Given the description of an element on the screen output the (x, y) to click on. 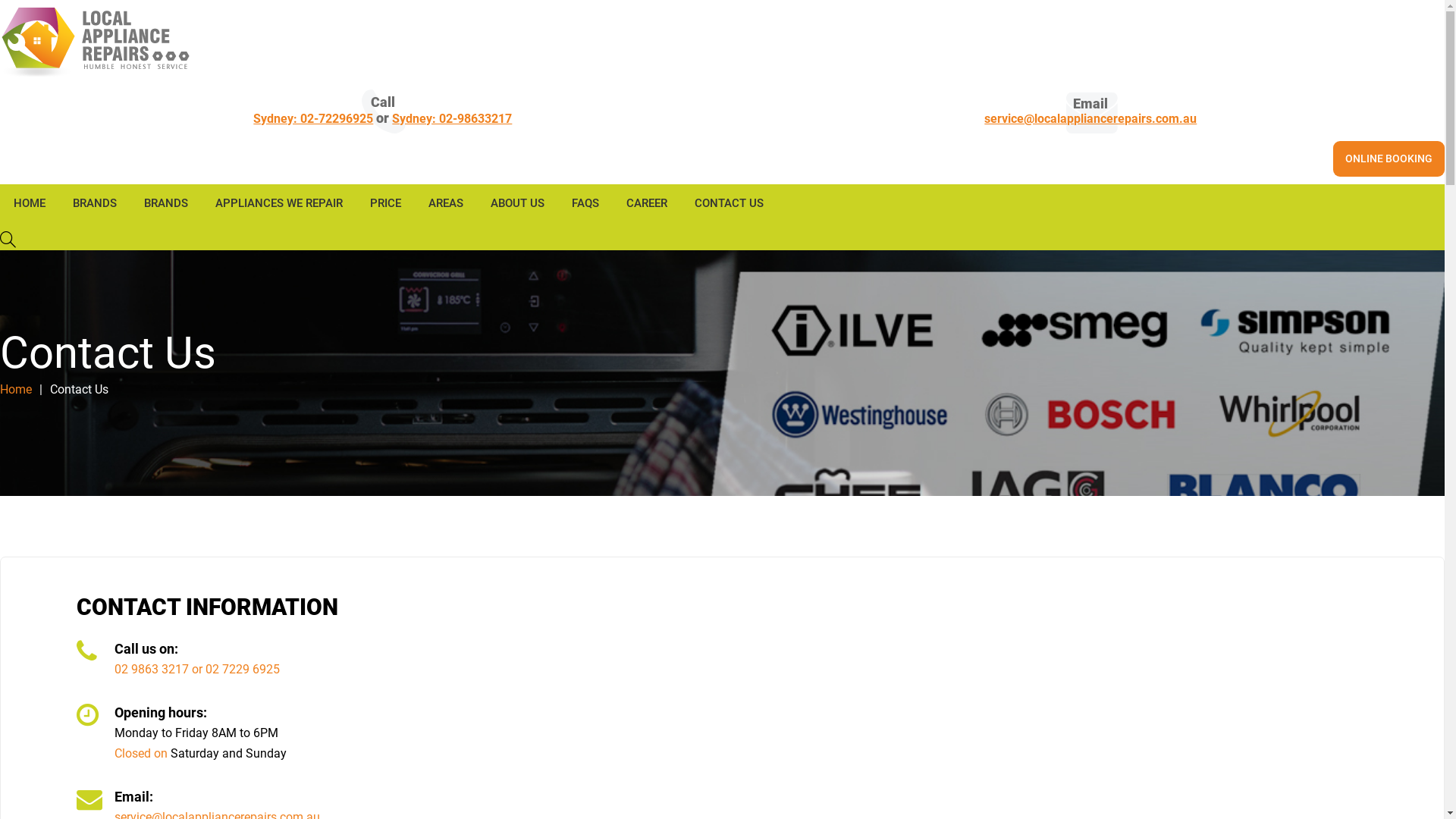
HOME Element type: text (29, 203)
02 9863 3217 or 02 7229 6925 Element type: text (196, 669)
Home Element type: text (15, 389)
Sydney: 02-98633217 Element type: text (451, 118)
ABOUT US Element type: text (517, 203)
CAREER Element type: text (646, 203)
service@localappliancerepairs.com.au Element type: text (1090, 118)
FAQS Element type: text (585, 203)
Sydney: 02-72296925 Element type: text (313, 118)
ONLINE BOOKING Element type: text (1388, 158)
PRICE Element type: text (385, 203)
BRANDS Element type: text (165, 203)
CONTACT US Element type: text (728, 203)
BRANDS Element type: text (94, 203)
APPLIANCES WE REPAIR Element type: text (278, 203)
AREAS Element type: text (445, 203)
